Given the description of an element on the screen output the (x, y) to click on. 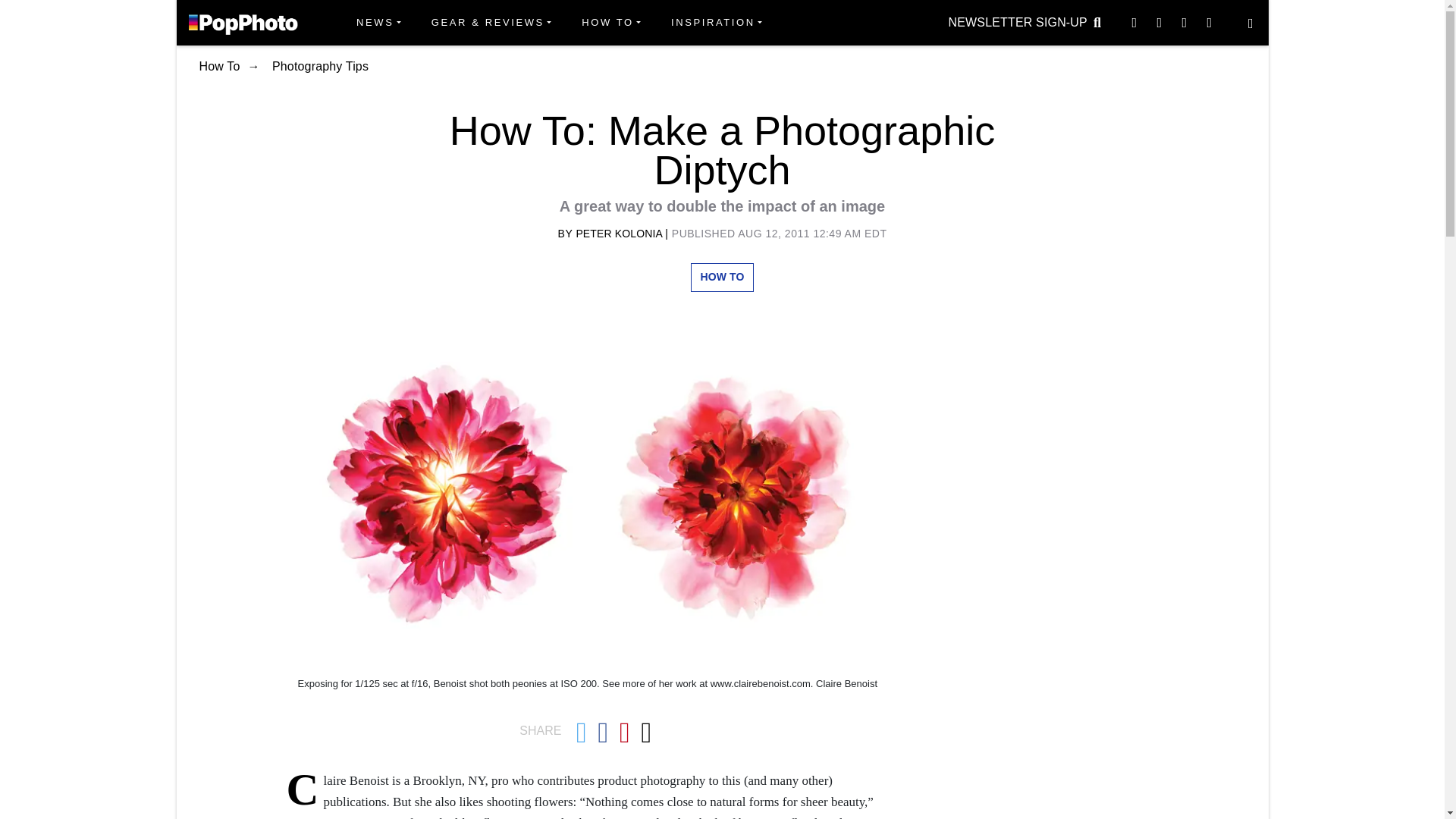
INSPIRATION (716, 22)
How To (610, 22)
Popular Photography (242, 22)
NEWS (378, 22)
HOW TO (610, 22)
News (378, 22)
NEWSLETTER SIGN-UP (1018, 22)
Inspiration (716, 22)
